Given the description of an element on the screen output the (x, y) to click on. 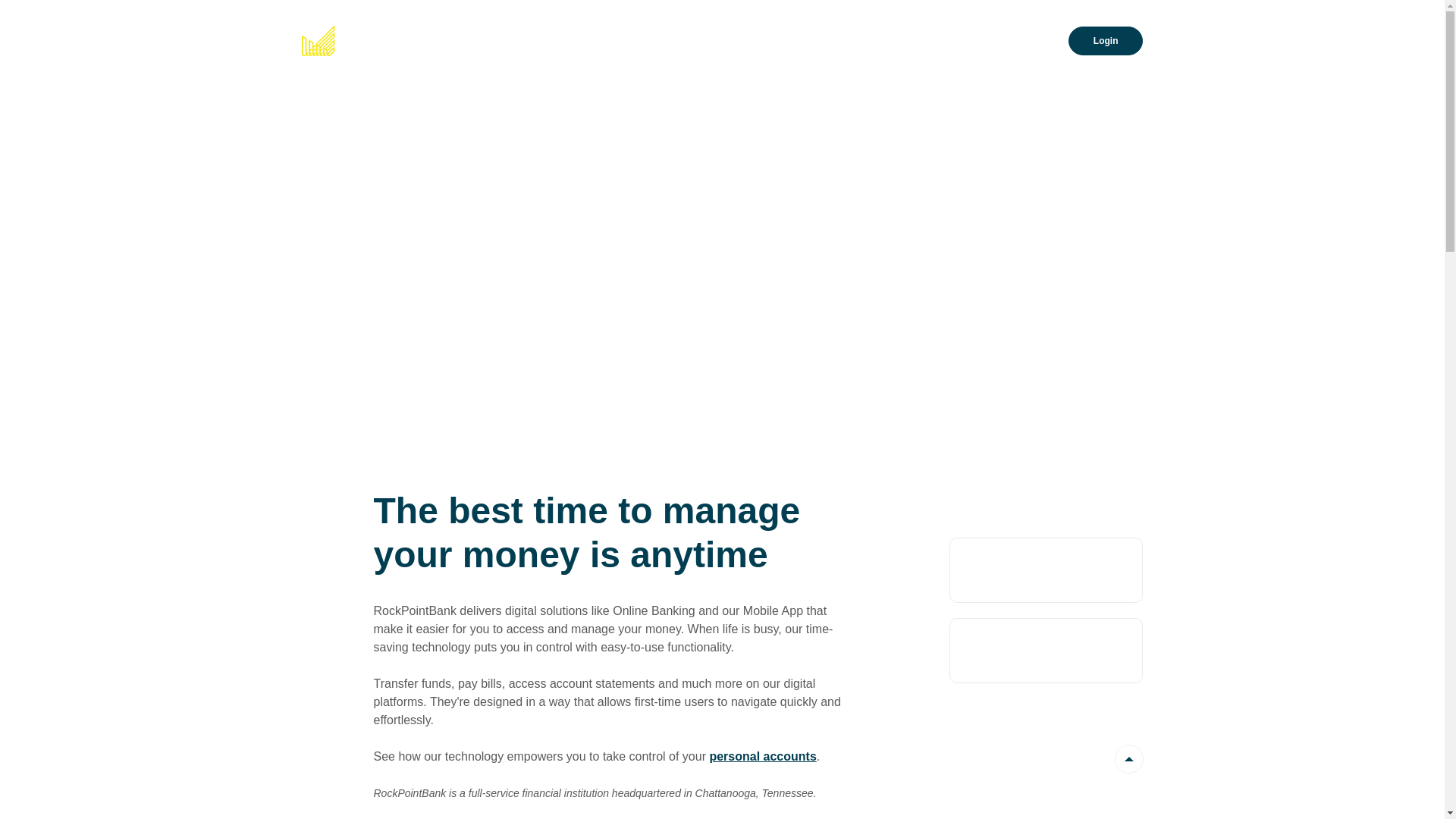
SEARCH Element type: text (1030, 40)
RockPointBank, Chattanooga, TN Element type: hover (396, 40)
Login Element type: text (1105, 39)
Back to the top Element type: text (1128, 758)
personal accounts Element type: text (762, 755)
